Given the description of an element on the screen output the (x, y) to click on. 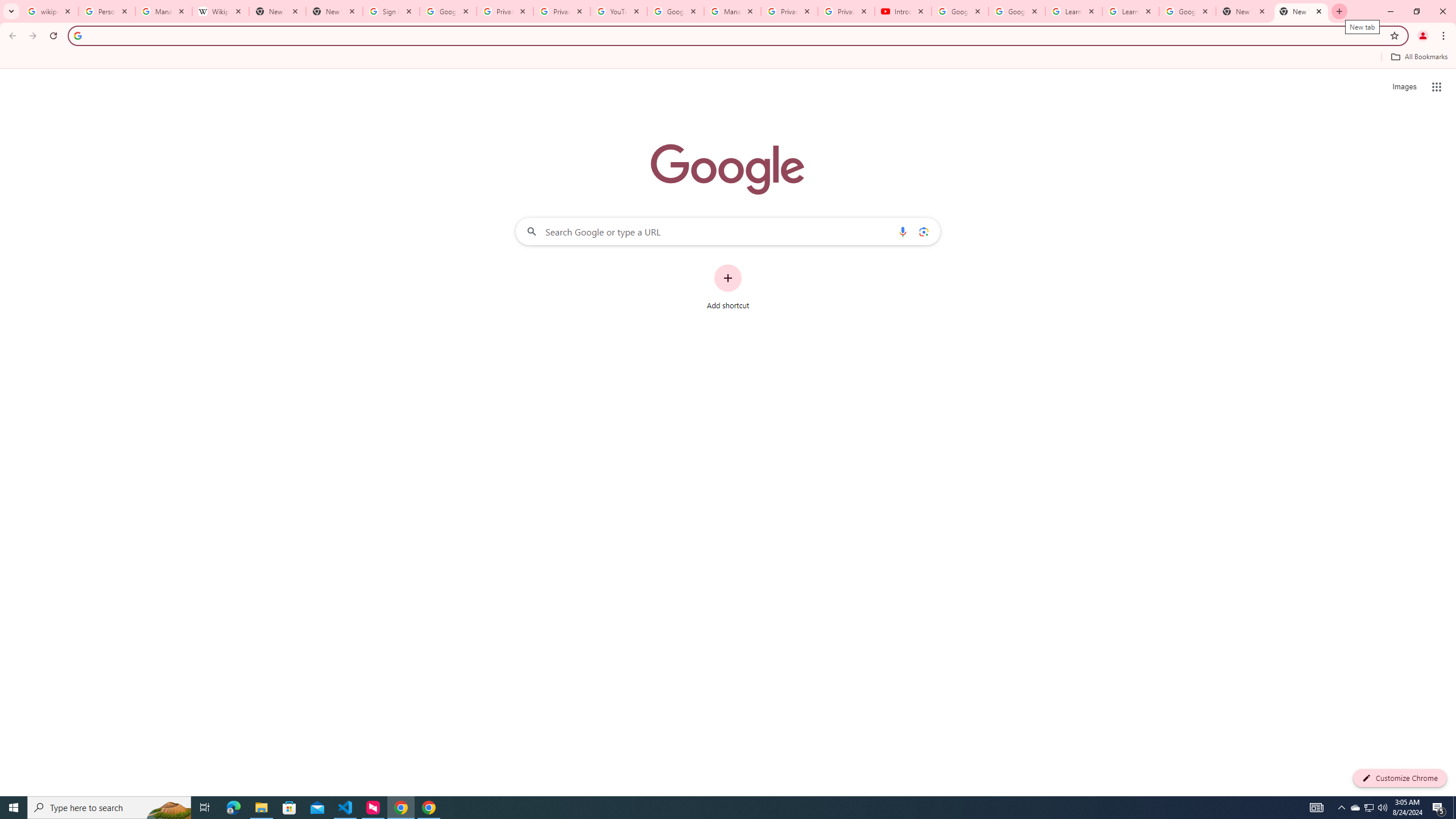
New Tab (334, 11)
Introduction | Google Privacy Policy - YouTube (902, 11)
Google Account (1187, 11)
Google Drive: Sign-in (447, 11)
New Tab (277, 11)
Manage your Location History - Google Search Help (163, 11)
Sign in - Google Accounts (391, 11)
